Given the description of an element on the screen output the (x, y) to click on. 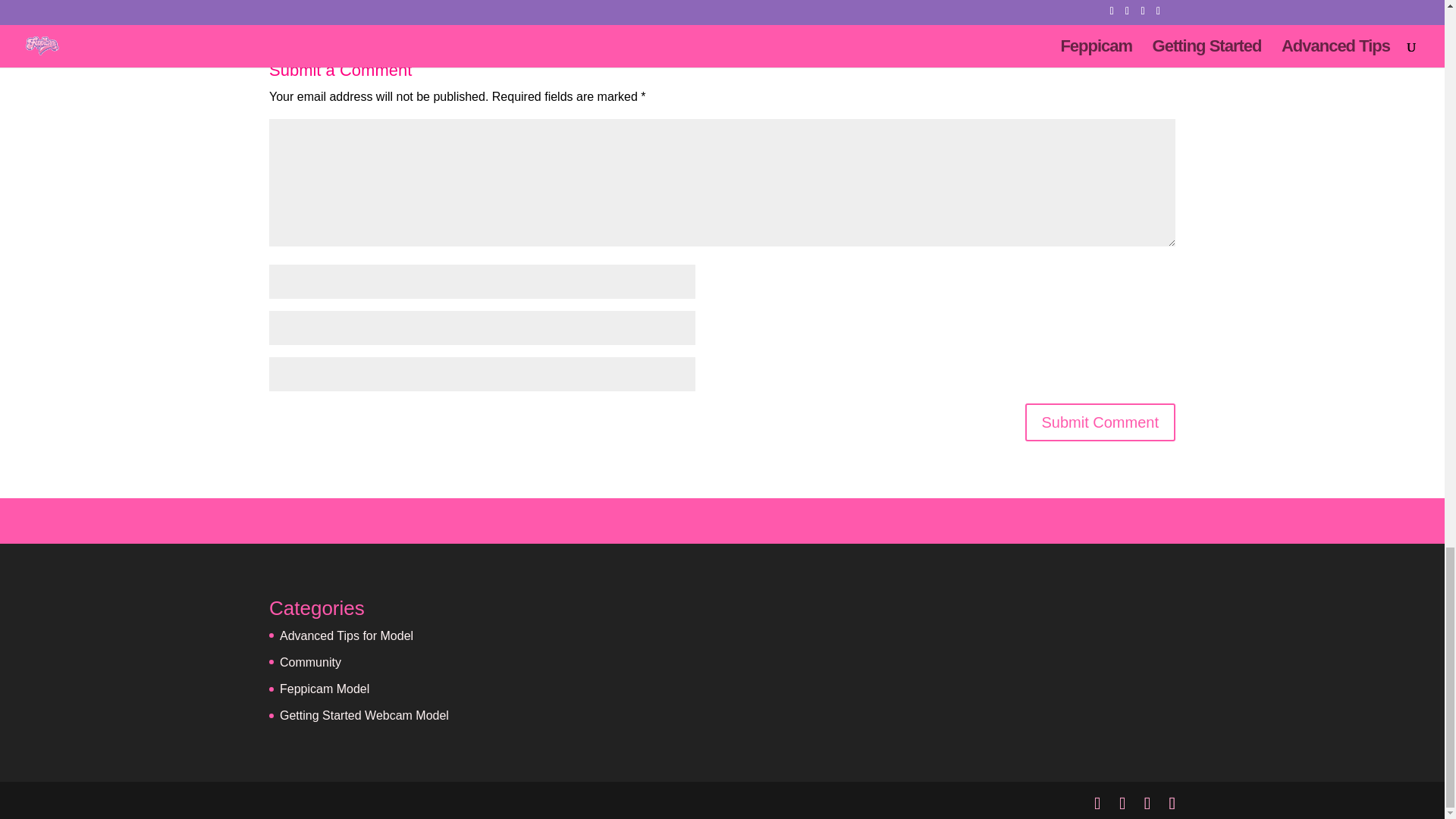
Submit Comment (1100, 422)
Community (309, 662)
Getting Started Webcam Model (363, 715)
Submit Comment (1100, 422)
Advanced Tips for Model (346, 635)
Feppicam Model (324, 688)
